Given the description of an element on the screen output the (x, y) to click on. 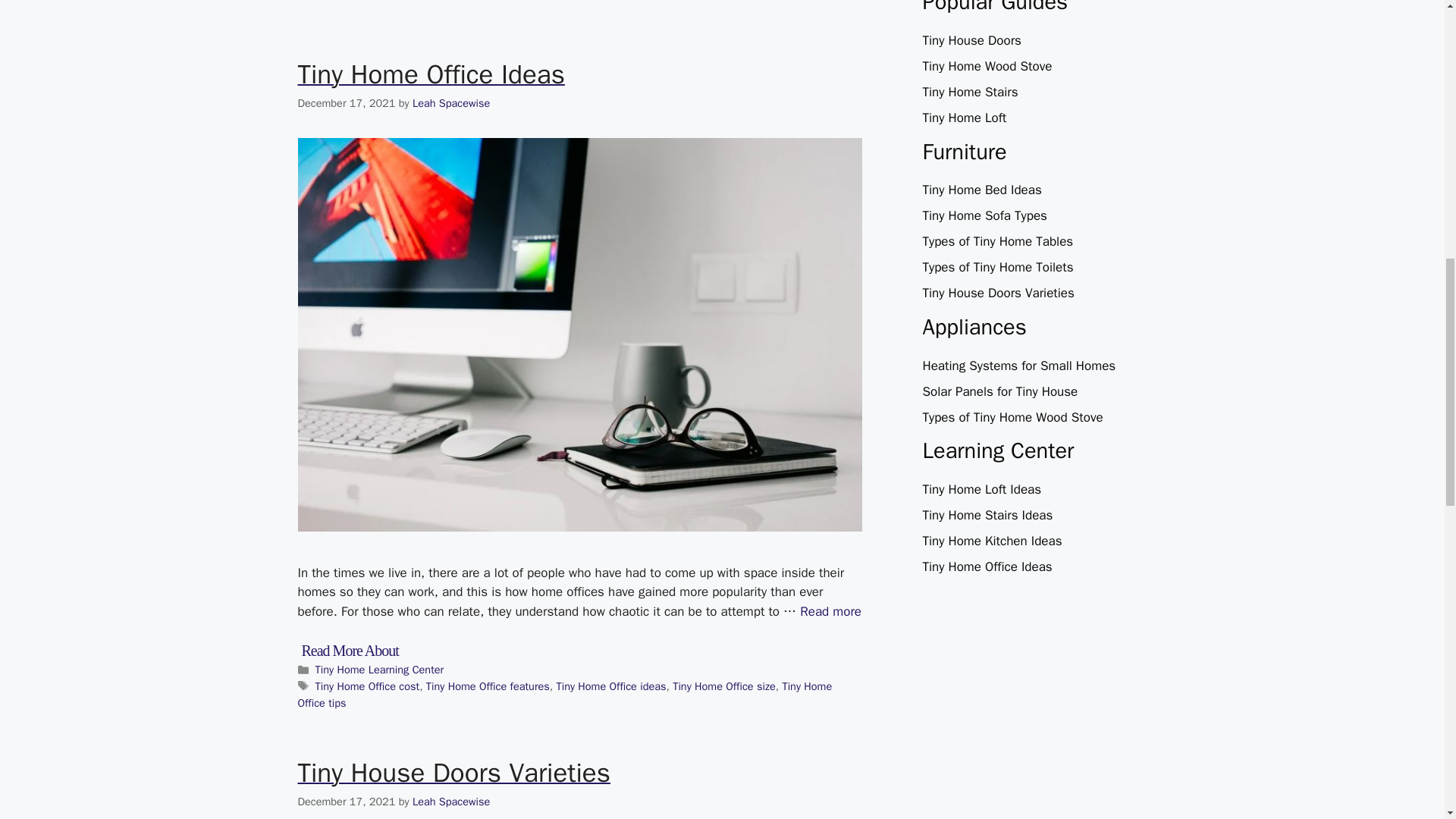
Read more (830, 611)
Tiny Home Learning Center (379, 669)
Tiny Home Office size (724, 685)
View all posts by Leah Spacewise (450, 102)
Leah Spacewise (450, 102)
Tiny Home Office Ideas (430, 73)
Tiny Home Office features (488, 685)
Tiny Home Office cost (367, 685)
View all posts by Leah Spacewise (450, 801)
Tiny Home Office tips (564, 694)
Tiny Home Office ideas (610, 685)
Scroll back to top (1406, 720)
Tiny Home Office Ideas (830, 611)
Leah Spacewise (450, 801)
Tiny House Doors Varieties (453, 772)
